Given the description of an element on the screen output the (x, y) to click on. 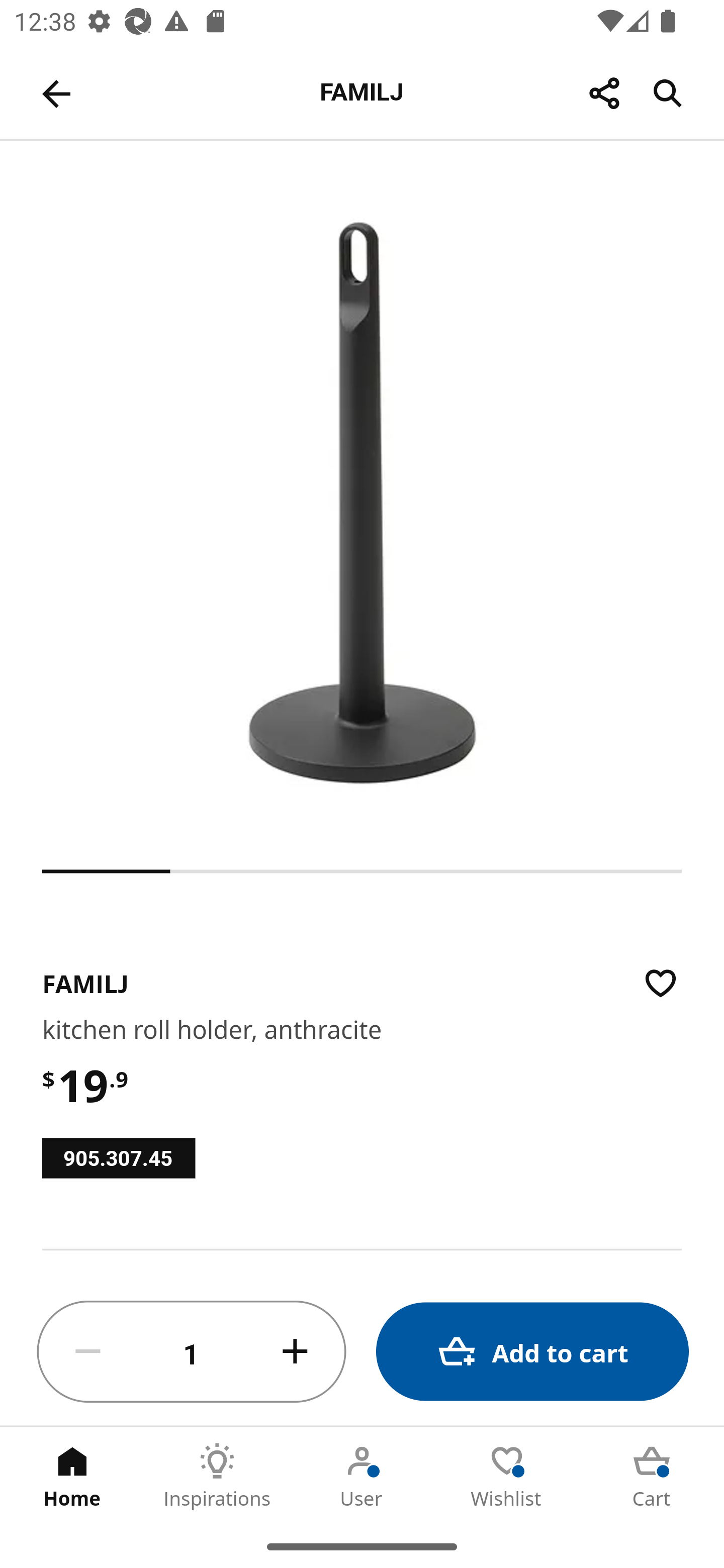
Add to cart (531, 1352)
1 (191, 1352)
Home
Tab 1 of 5 (72, 1476)
Inspirations
Tab 2 of 5 (216, 1476)
User
Tab 3 of 5 (361, 1476)
Wishlist
Tab 4 of 5 (506, 1476)
Cart
Tab 5 of 5 (651, 1476)
